Given the description of an element on the screen output the (x, y) to click on. 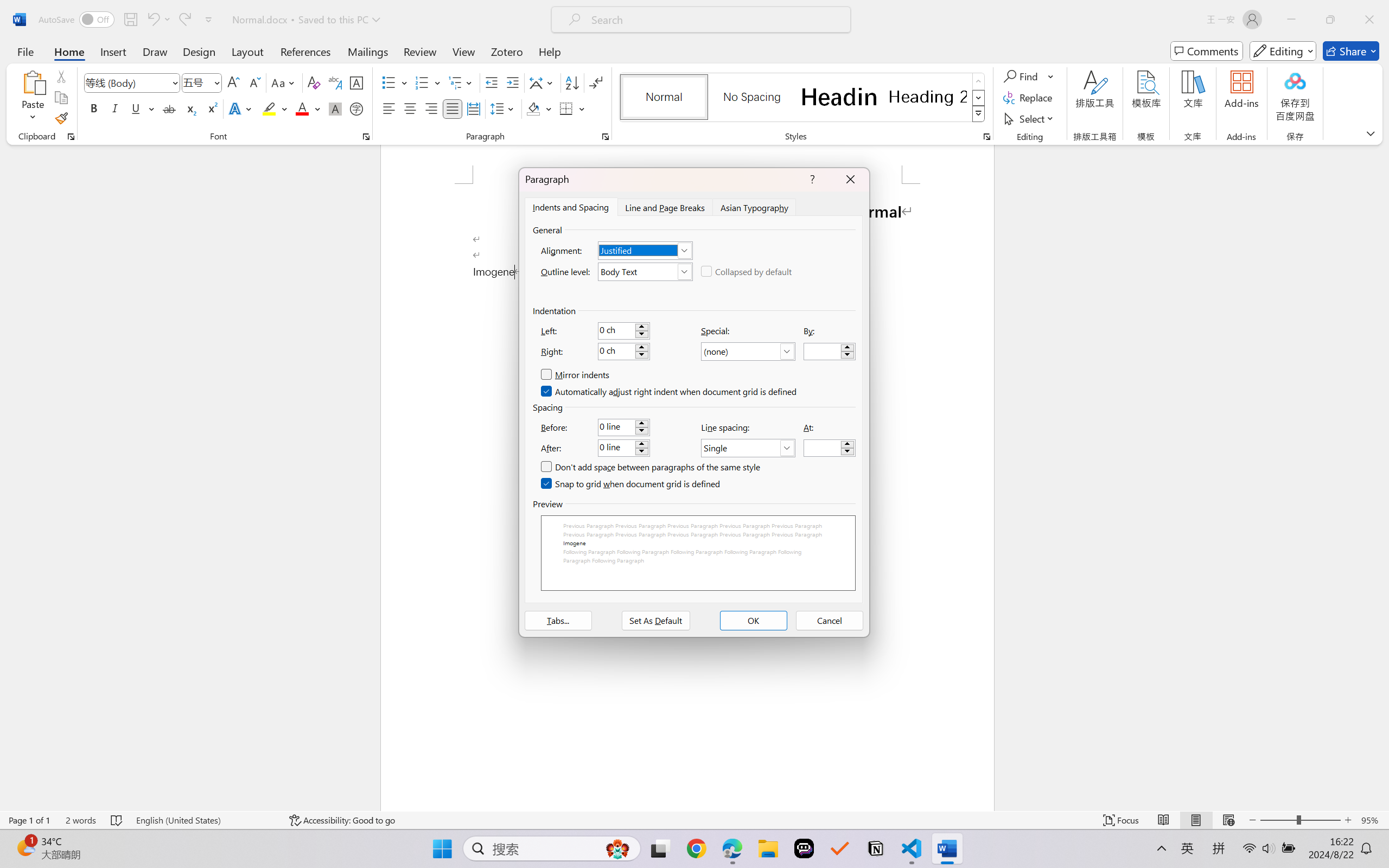
Text Effects and Typography (241, 108)
Strikethrough (169, 108)
Line spacing: (748, 448)
Shrink Font (253, 82)
Snap to grid when document grid is defined (631, 483)
Mirror indents (575, 374)
Google Chrome (696, 848)
RichEdit Control (822, 447)
Phonetic Guide... (334, 82)
Row up (978, 81)
